Given the description of an element on the screen output the (x, y) to click on. 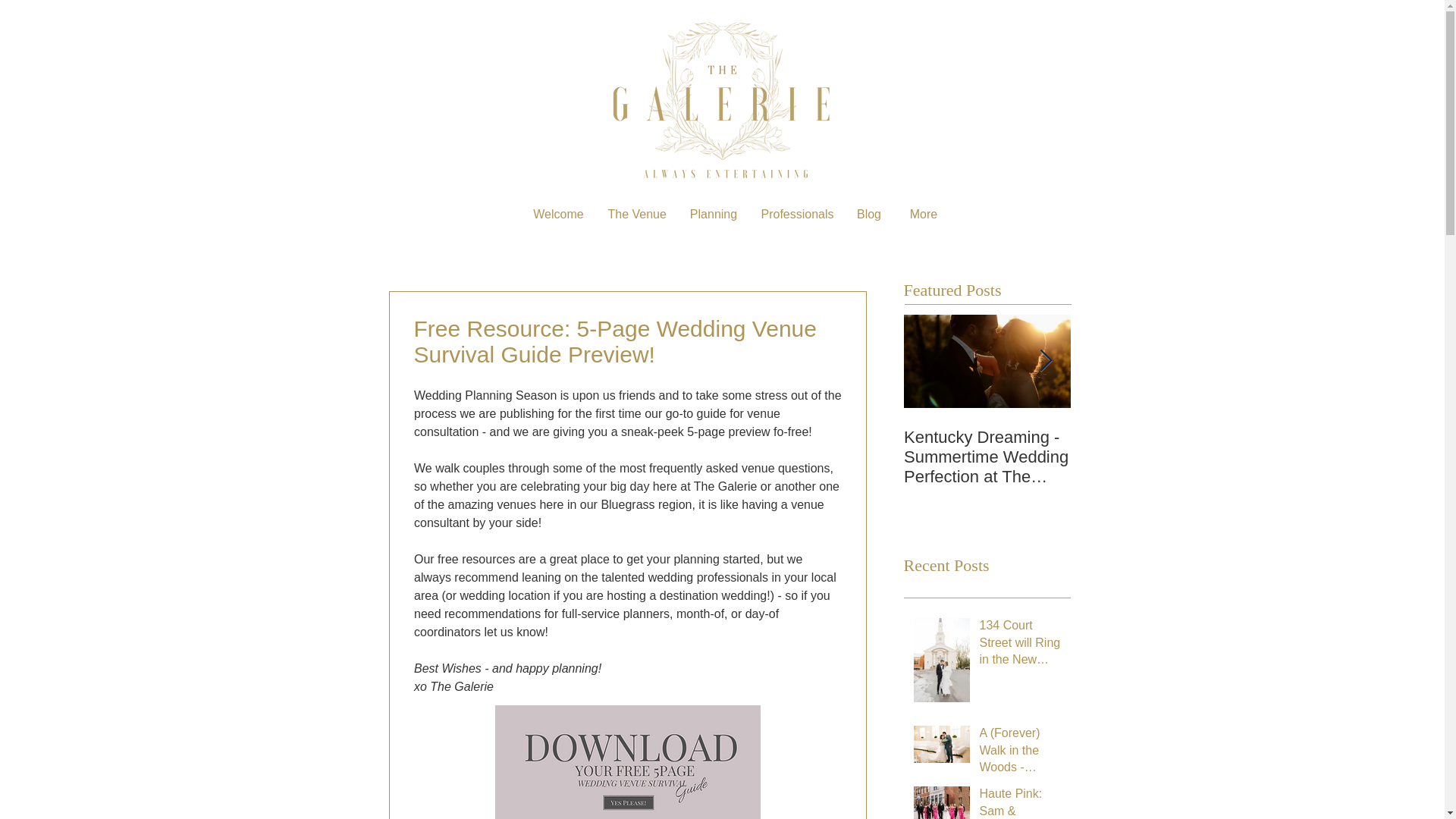
The Venue (636, 214)
The Galerie 2024 logo.jpg (722, 101)
Professionals (796, 214)
Blog (869, 214)
Welcome (557, 214)
Planning (713, 214)
